Given the description of an element on the screen output the (x, y) to click on. 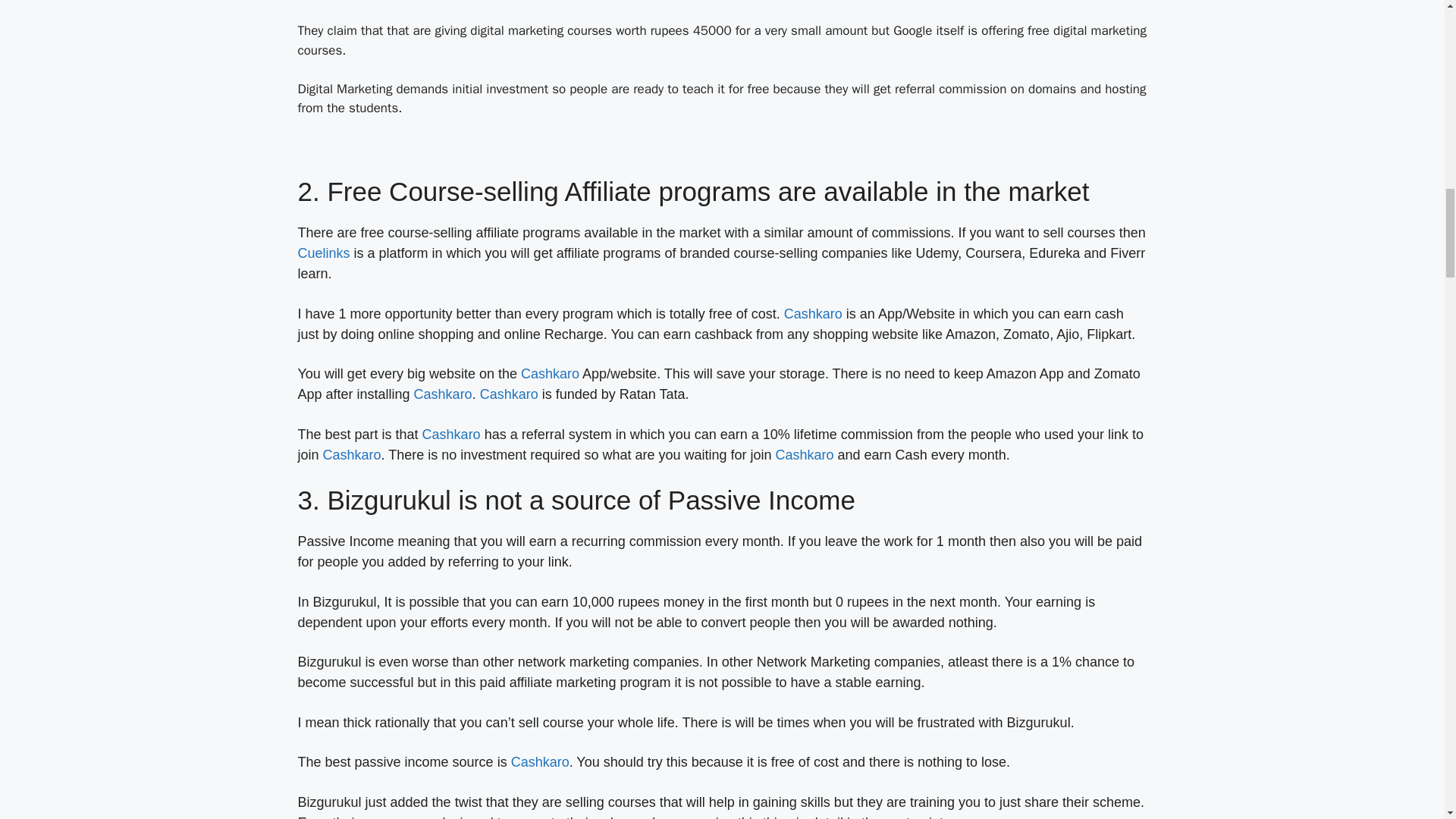
Cashkaro (805, 454)
Cashkaro (509, 394)
Cashkaro (352, 454)
Cashkaro (550, 373)
Cashkaro (540, 761)
Cashkaro (813, 313)
Cuelinks (323, 253)
Cashkaro (442, 394)
Cashkaro (451, 434)
